Given the description of an element on the screen output the (x, y) to click on. 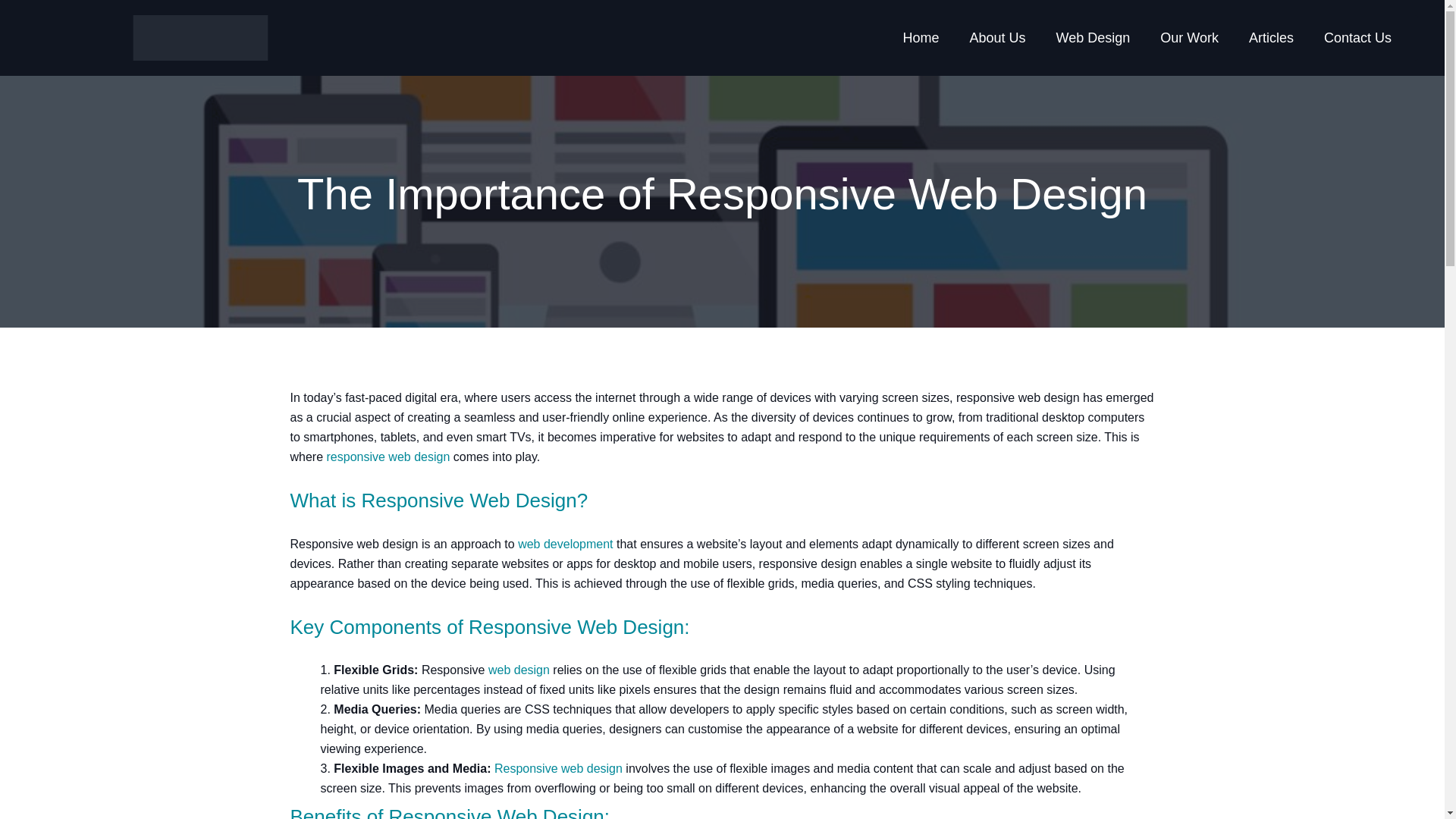
Contact Us (1357, 37)
Articles (1270, 37)
About Us (997, 37)
Web Design (1093, 37)
Contact Us (1357, 37)
About Us (997, 37)
Home (919, 37)
responsive web design (387, 456)
web development (565, 543)
Web Design (1093, 37)
Responsive web design (559, 768)
Articles (1270, 37)
web design (518, 669)
Home (919, 37)
Our Work (1188, 37)
